Given the description of an element on the screen output the (x, y) to click on. 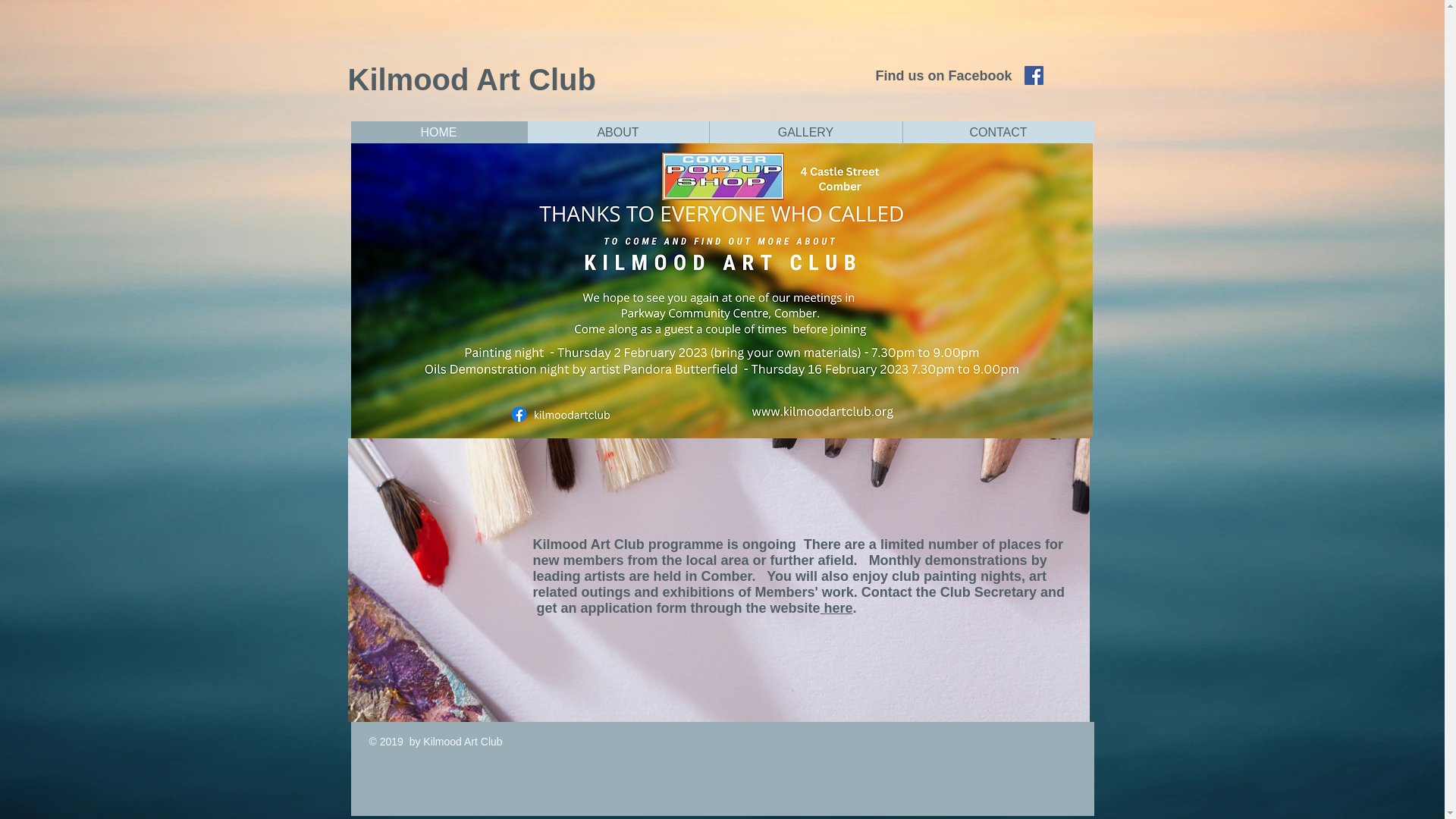
here (837, 607)
HOME (437, 132)
GALLERY (804, 132)
Kilmood Art Club (471, 79)
CONTACT (998, 132)
ABOUT (616, 132)
